Given the description of an element on the screen output the (x, y) to click on. 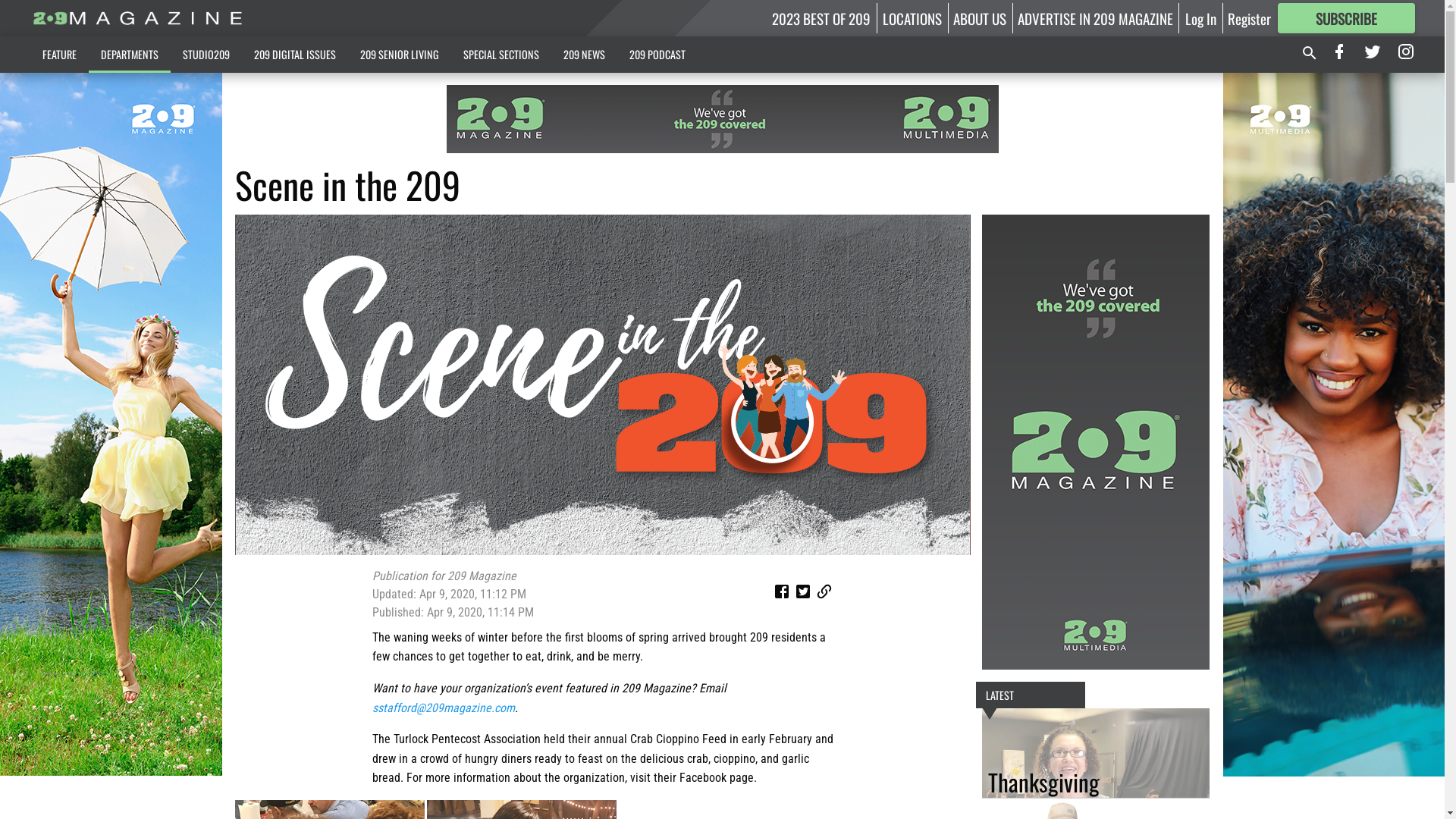
209 DIGITAL ISSUES Element type: text (294, 54)
Log In Element type: text (1200, 18)
3rd party ad content Element type: hover (1095, 441)
3rd party ad content Element type: hover (721, 118)
LOCATIONS Element type: text (911, 18)
SPECIAL SECTIONS Element type: text (500, 54)
ABOUT US Element type: text (979, 18)
209 PODCAST Element type: text (657, 54)
STUDIO209 Element type: text (205, 54)
2023 BEST OF 209 Element type: text (820, 18)
209 NEWS Element type: text (583, 54)
FEATURE Element type: text (59, 54)
SUBSCRIBE Element type: text (1345, 18)
3rd party ad content Element type: hover (1335, 424)
ADVERTISE IN 209 MAGAZINE Element type: text (1095, 18)
DEPARTMENTS Element type: text (128, 54)
Thanksgiving Element type: text (1095, 752)
209 SENIOR LIVING Element type: text (398, 54)
sstafford@209magazine.com Element type: text (443, 707)
Register Element type: text (1248, 18)
